Given the description of an element on the screen output the (x, y) to click on. 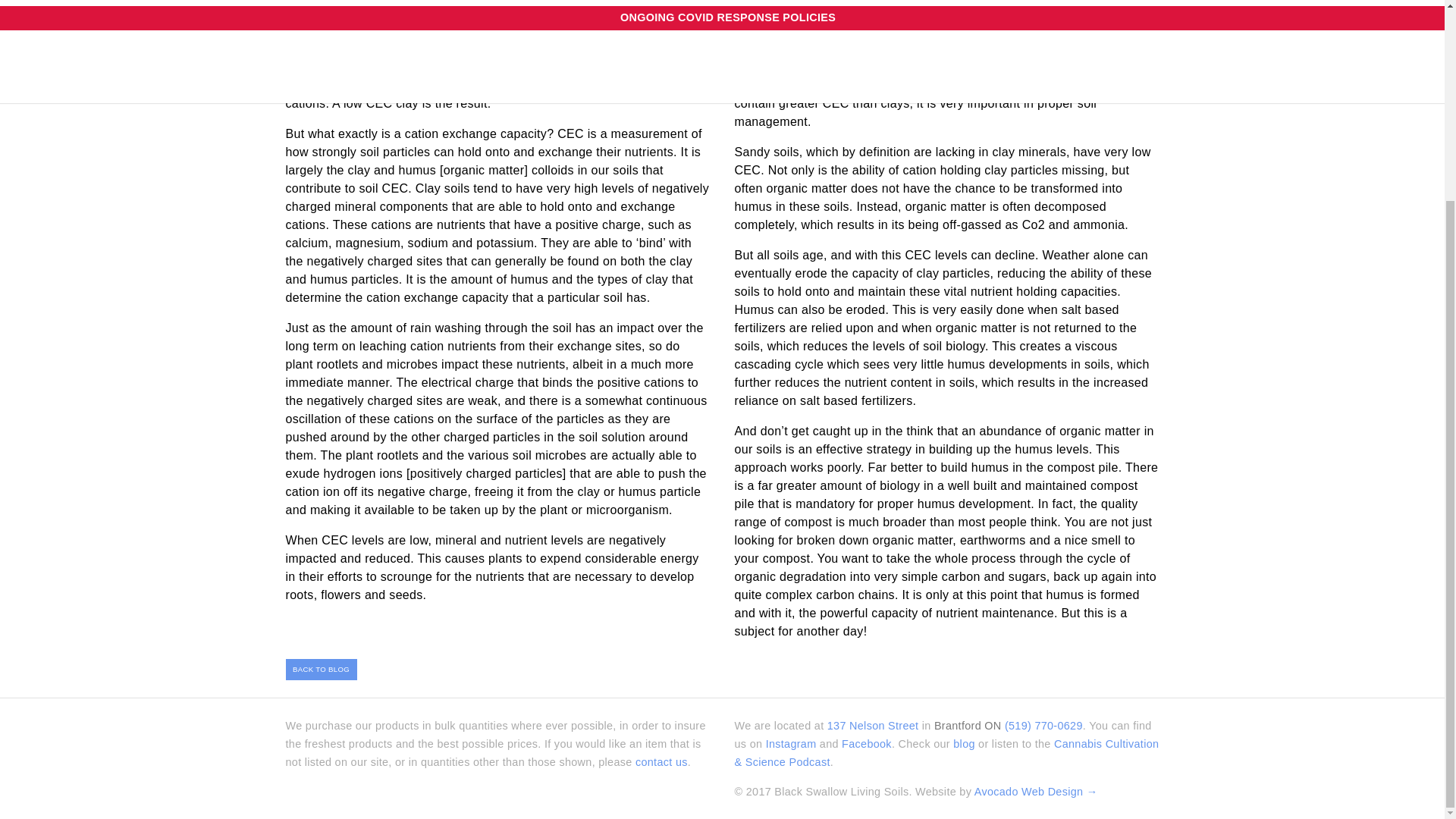
blog (964, 743)
137 Nelson Street (872, 725)
contact us (660, 761)
Facebook (866, 743)
Instagram (790, 743)
BACK TO BLOG (320, 669)
